Given the description of an element on the screen output the (x, y) to click on. 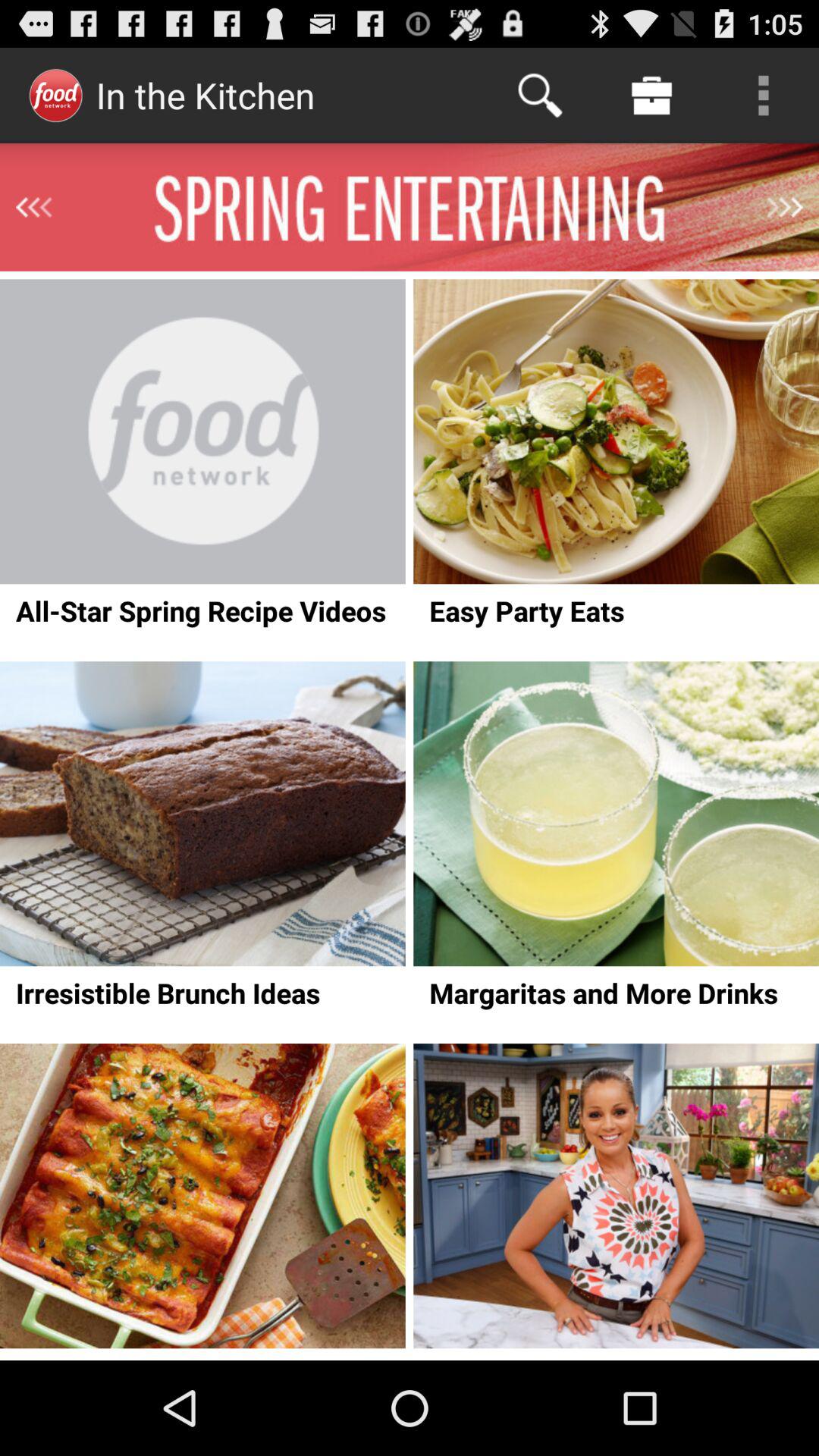
click the app to the right of the in the kitchen icon (540, 95)
